Given the description of an element on the screen output the (x, y) to click on. 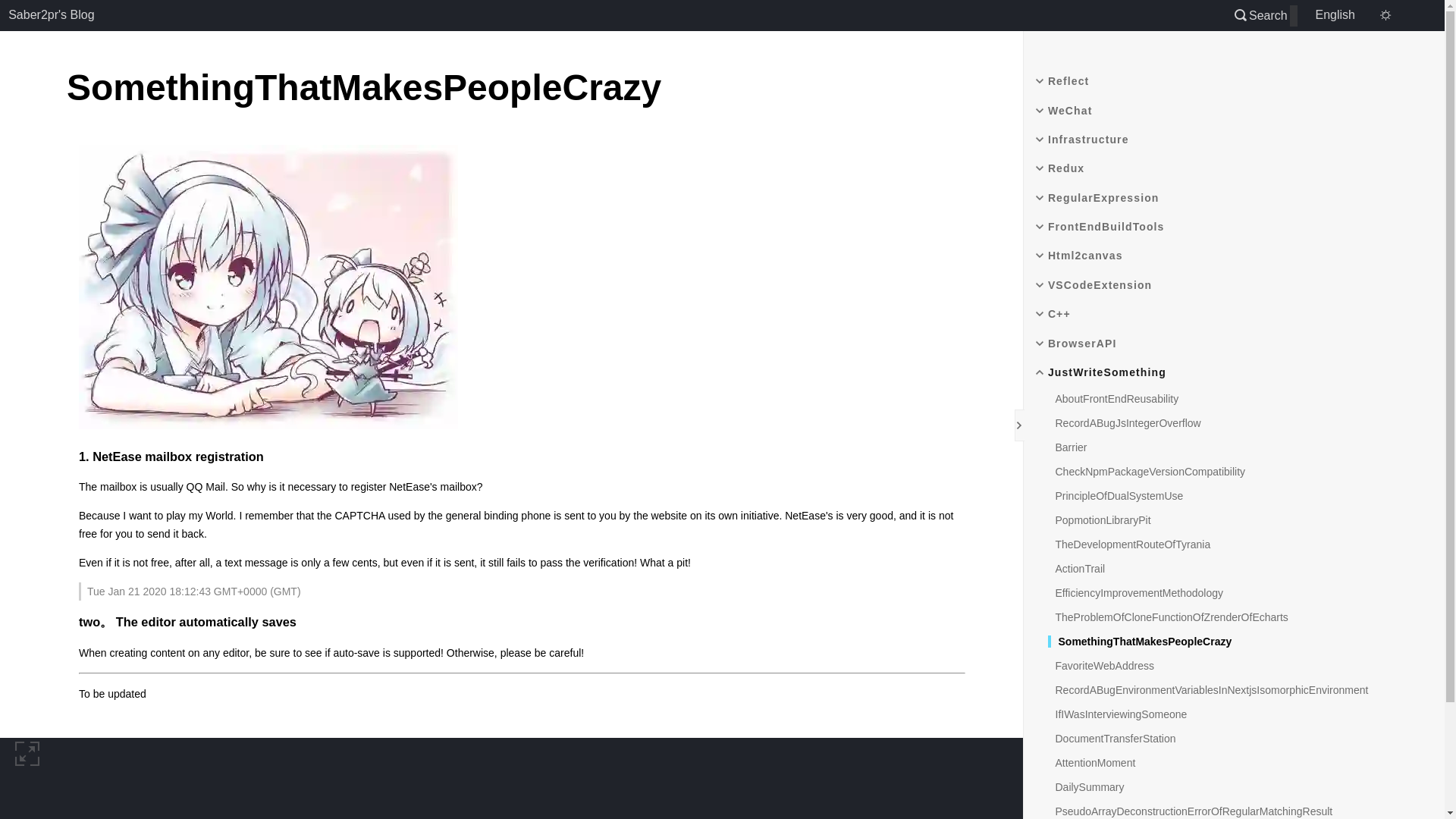
AttentionMoment (1091, 762)
FavoriteWebAddress (1101, 665)
TheProblemOfCloneFunctionOfZrenderOfEcharts (1168, 616)
RecordABugEnvironmentVariablesInNextjsIsomorphicEnvironment (1208, 689)
EfficiencyImprovementMethodology (1136, 592)
DocumentTransferStation (1112, 738)
IfIWasInterviewingSomeone (1118, 714)
Saber2pr's Blog (51, 15)
PseudoArrayDeconstructionErrorOfRegularMatchingResult (1190, 811)
AboutFrontEndReusability (1113, 398)
SomethingThatMakesPeopleCrazy (1139, 641)
PrincipleOfDualSystemUse (1115, 495)
TheDevelopmentRouteOfTyrania (1129, 544)
CheckNpmPackageVersionCompatibility (1147, 471)
PopmotionLibraryPit (1099, 520)
